Given the description of an element on the screen output the (x, y) to click on. 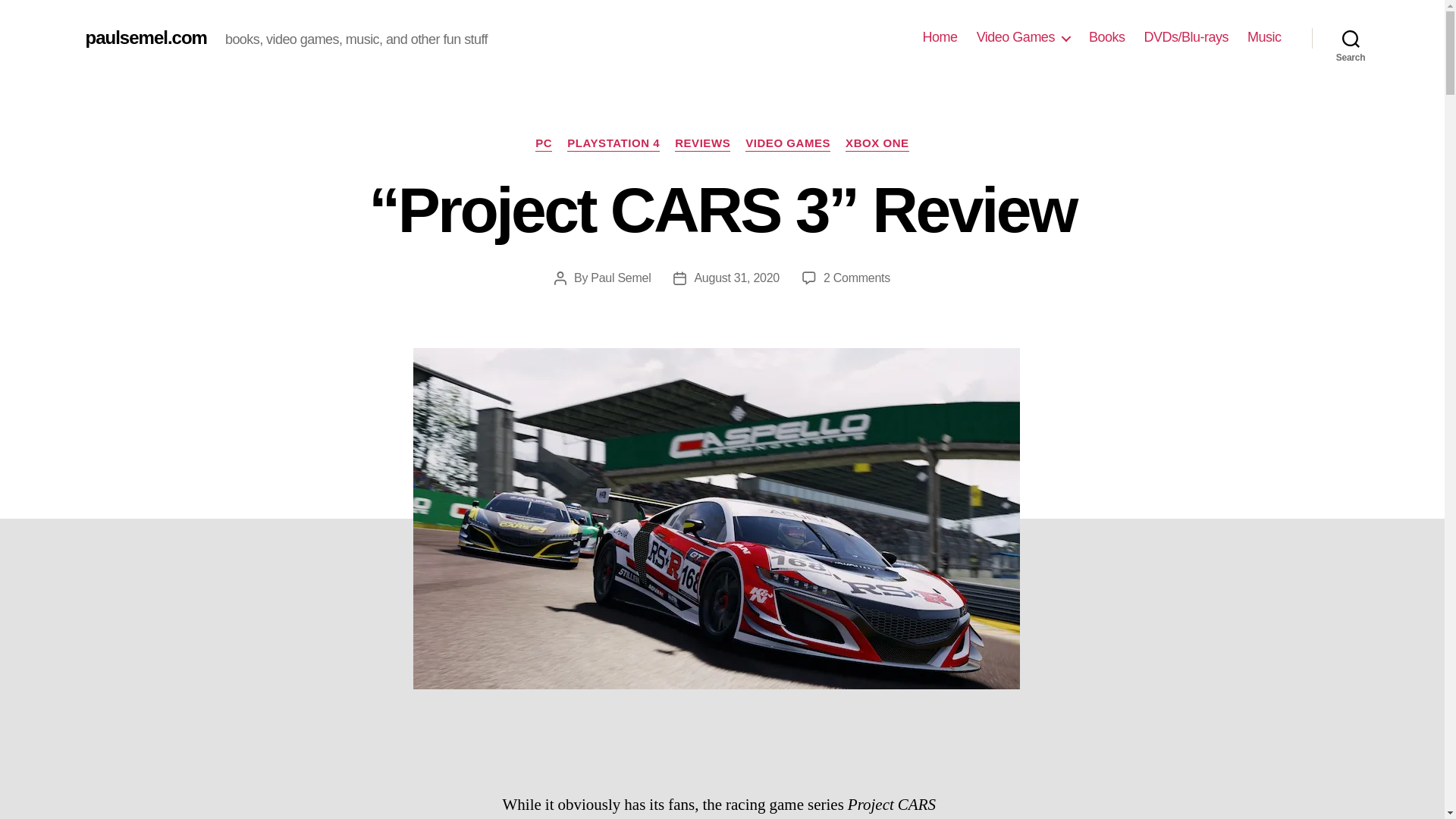
Search (1350, 37)
Home (940, 37)
REVIEWS (702, 143)
PLAYSTATION 4 (613, 143)
Books (1107, 37)
Video Games (1023, 37)
paulsemel.com (145, 37)
Music (1264, 37)
PC (543, 143)
